Given the description of an element on the screen output the (x, y) to click on. 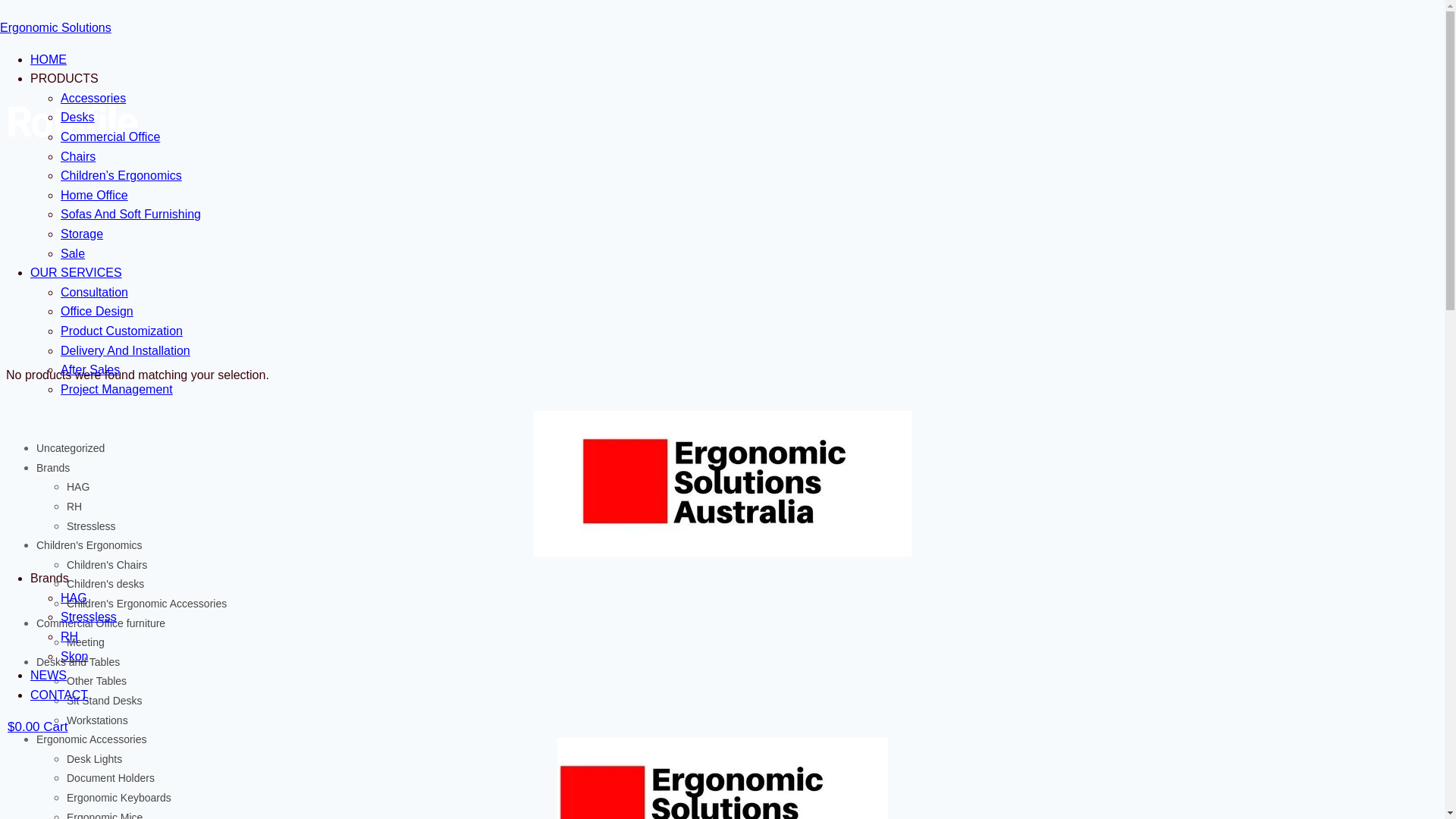
Sale Element type: text (72, 253)
After Sales Element type: text (89, 369)
Ergonomic Keyboards Element type: text (118, 797)
Storage Element type: text (81, 233)
OUR SERVICES Element type: text (76, 272)
$0.00 Cart Element type: text (37, 726)
Skip to content Element type: text (5, 5)
HOME Element type: text (48, 59)
Brands Element type: text (49, 577)
Meeting Element type: text (85, 642)
HAG Element type: text (73, 597)
Sofas And Soft Furnishing Element type: text (130, 213)
Home Office Element type: text (94, 194)
Brands Element type: text (52, 467)
Skon Element type: text (73, 655)
Accessories Element type: text (92, 97)
Product Customization Element type: text (121, 330)
Sit Stand Desks Element type: text (104, 700)
Children's Ergonomics Element type: text (89, 545)
Project Management Element type: text (116, 388)
RH Element type: text (69, 636)
Document Holders Element type: text (110, 777)
Commercial Office furniture Element type: text (100, 623)
Stressless Element type: text (91, 526)
NEWS Element type: text (48, 674)
Children's Ergonomic Accessories Element type: text (146, 603)
CONTACT Element type: text (58, 694)
Desks and Tables Element type: text (77, 661)
Ergonomic Accessories Element type: text (91, 739)
HAG Element type: text (77, 486)
Chairs Element type: text (77, 156)
Office Design Element type: text (96, 310)
RH Element type: text (73, 506)
Uncategorized Element type: text (70, 448)
Children's Chairs Element type: text (106, 564)
Ergonomic Solutions Element type: text (55, 27)
Workstations Element type: text (97, 720)
PRODUCTS Element type: text (64, 78)
Consultation Element type: text (94, 291)
Children's desks Element type: text (105, 583)
Commercial Office Element type: text (110, 136)
Other Tables Element type: text (96, 680)
Stressless Element type: text (88, 616)
Delivery And Installation Element type: text (125, 350)
Desk Lights Element type: text (94, 759)
Desks Element type: text (77, 116)
